Given the description of an element on the screen output the (x, y) to click on. 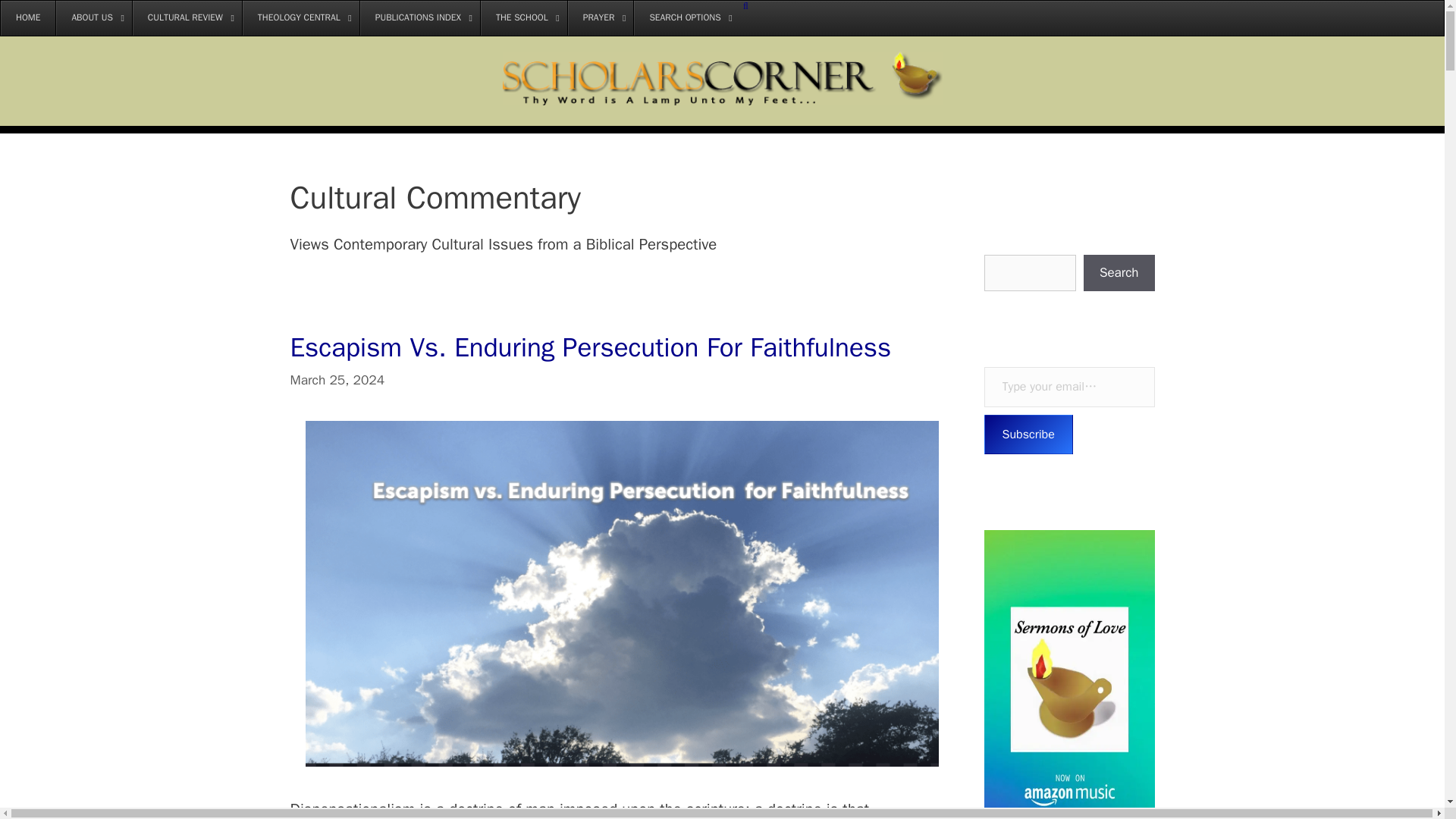
ABOUT US (93, 18)
CULTURAL REVIEW (186, 18)
HOME (28, 18)
